Given the description of an element on the screen output the (x, y) to click on. 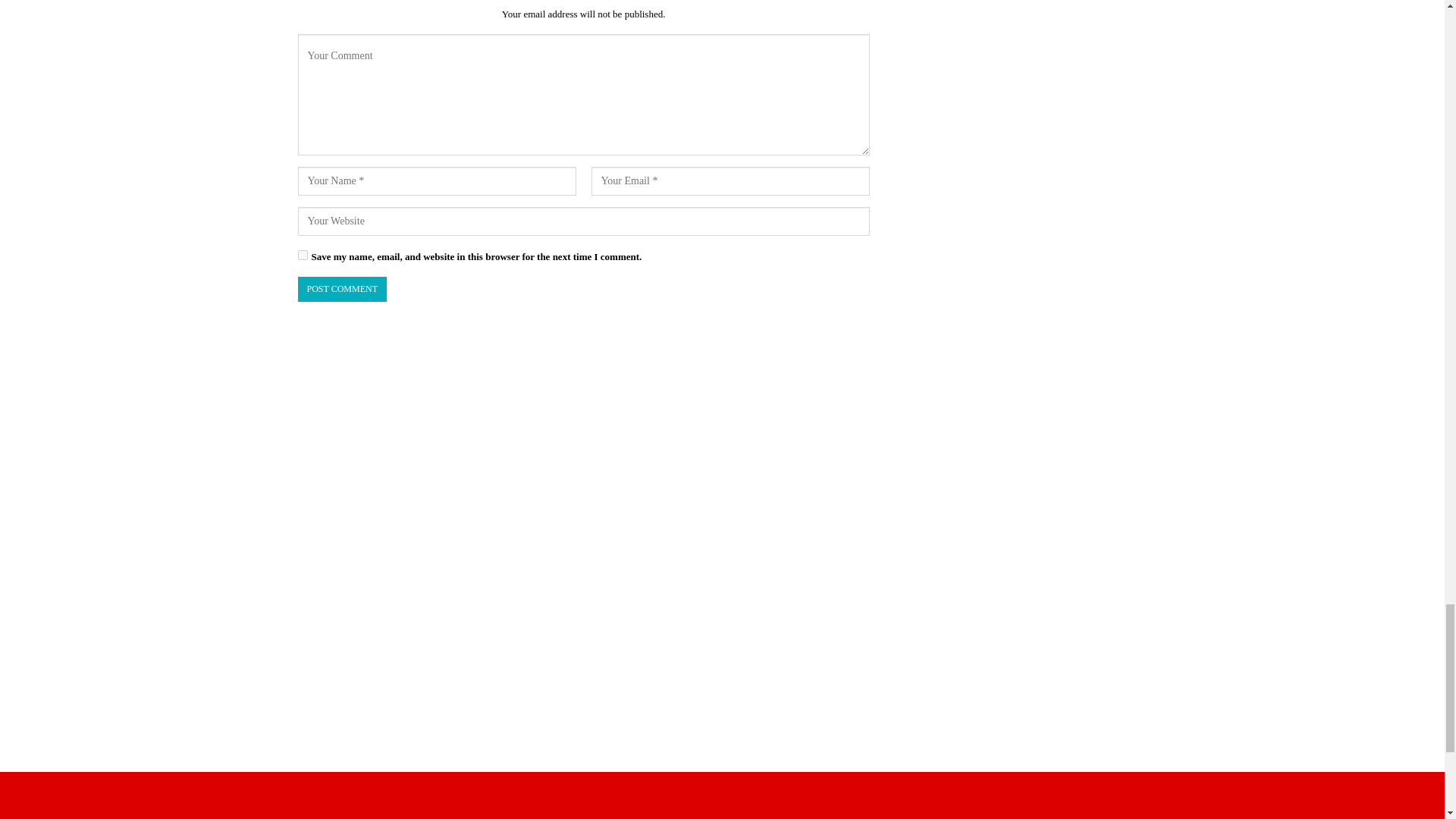
Post Comment (341, 289)
yes (302, 255)
